Given the description of an element on the screen output the (x, y) to click on. 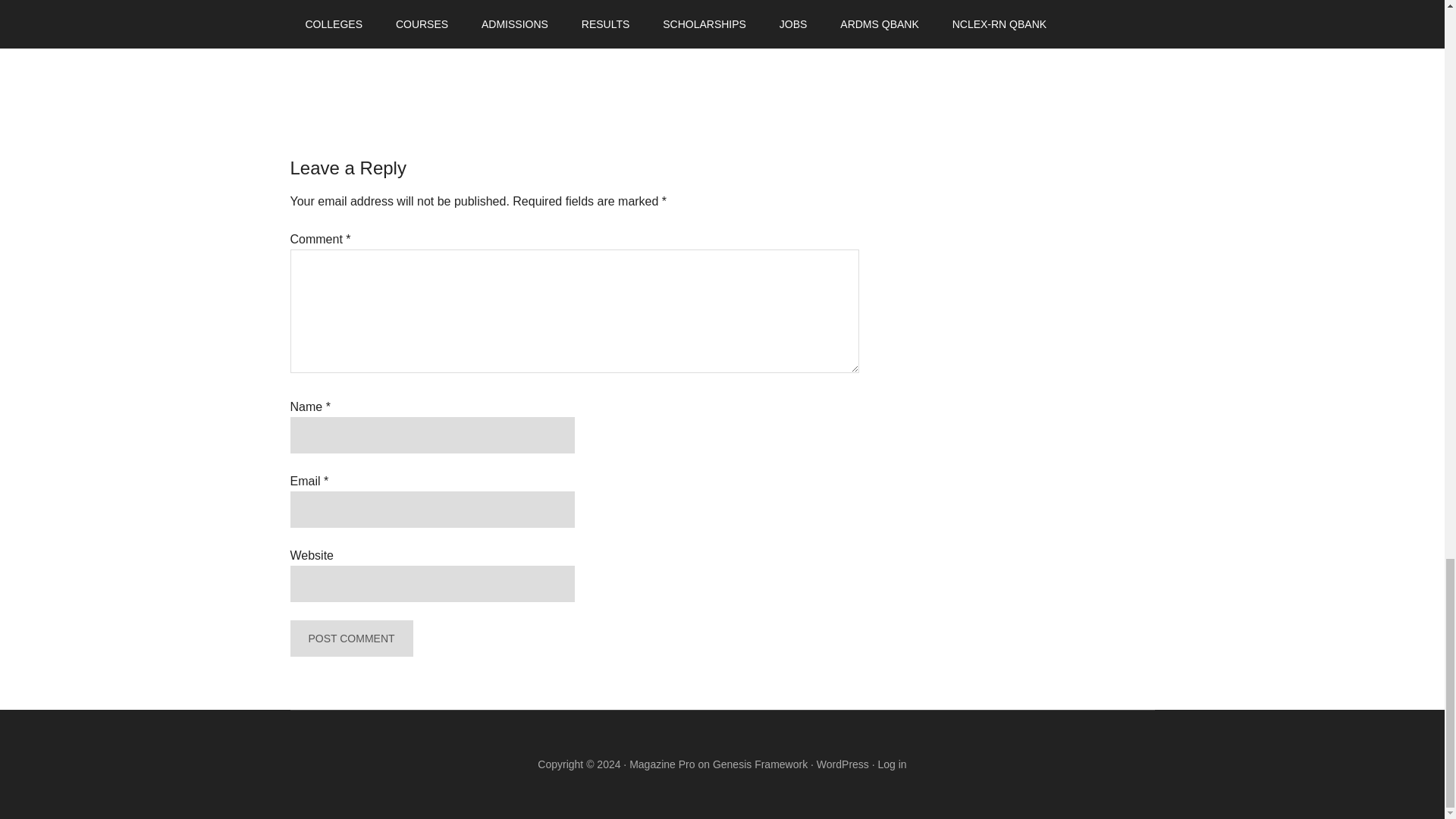
Post Comment (350, 637)
Magazine Pro (661, 764)
Post Comment (350, 637)
